Given the description of an element on the screen output the (x, y) to click on. 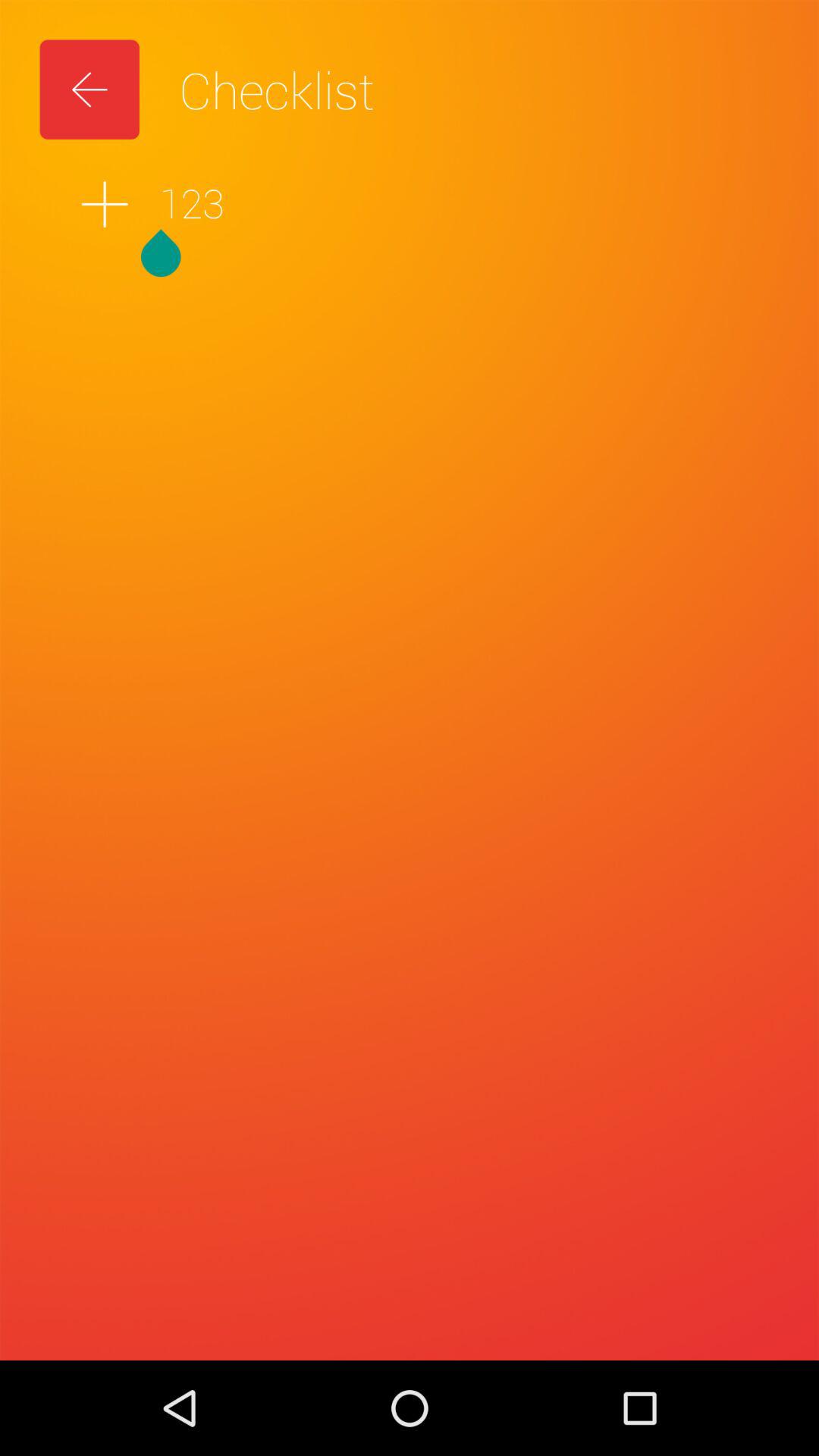
press the item to the left of the checklist (89, 89)
